Given the description of an element on the screen output the (x, y) to click on. 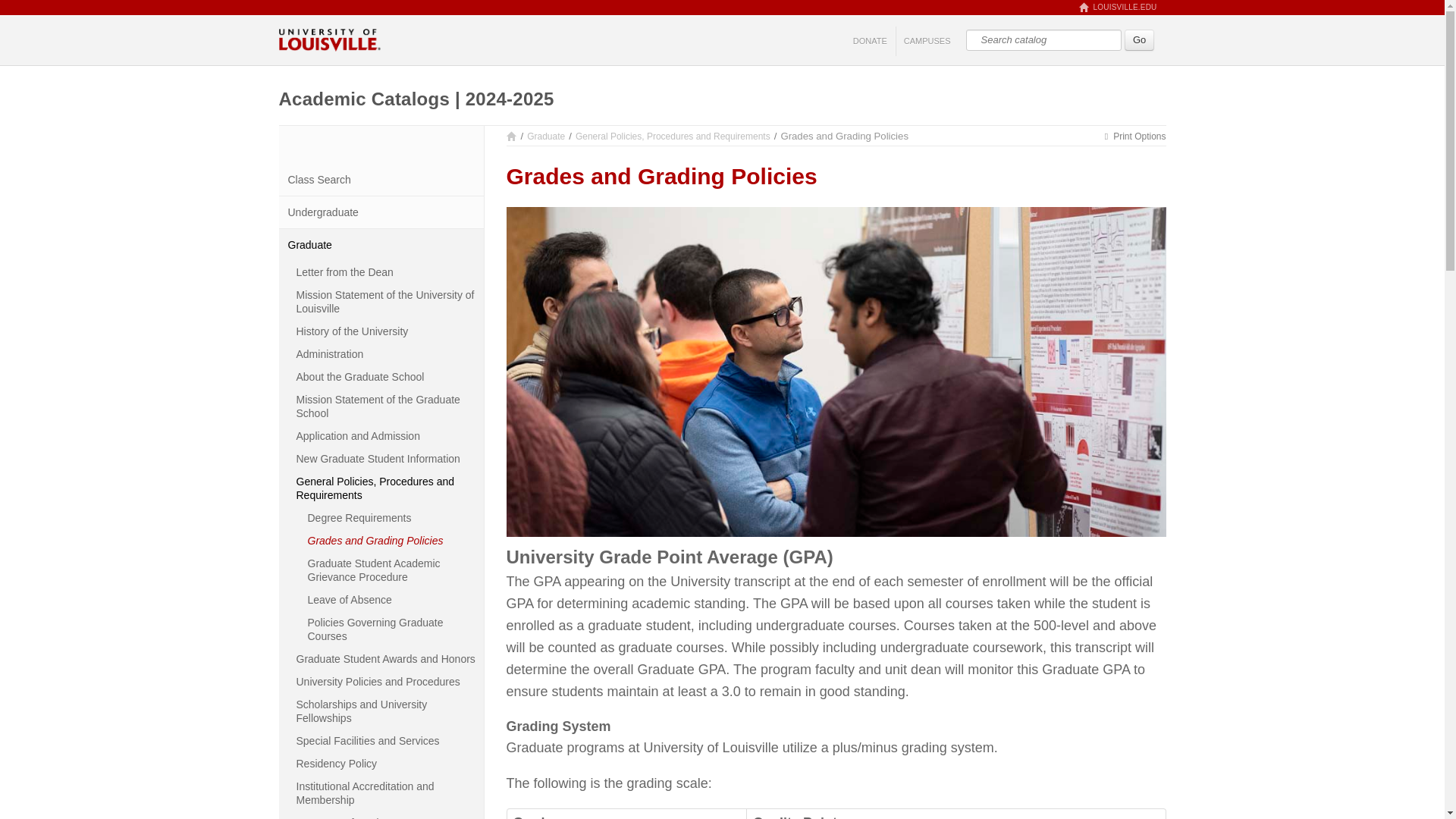
Graduate (545, 136)
New Graduate Student Information (386, 458)
History of the University (386, 331)
Search Catalog (1043, 39)
Programs of Study (386, 815)
Catalog Home (511, 136)
Go (1139, 39)
Graduate Student Academic Grievance Procedure (392, 570)
About the Graduate School (386, 376)
Degree Requirements (392, 517)
